Given the description of an element on the screen output the (x, y) to click on. 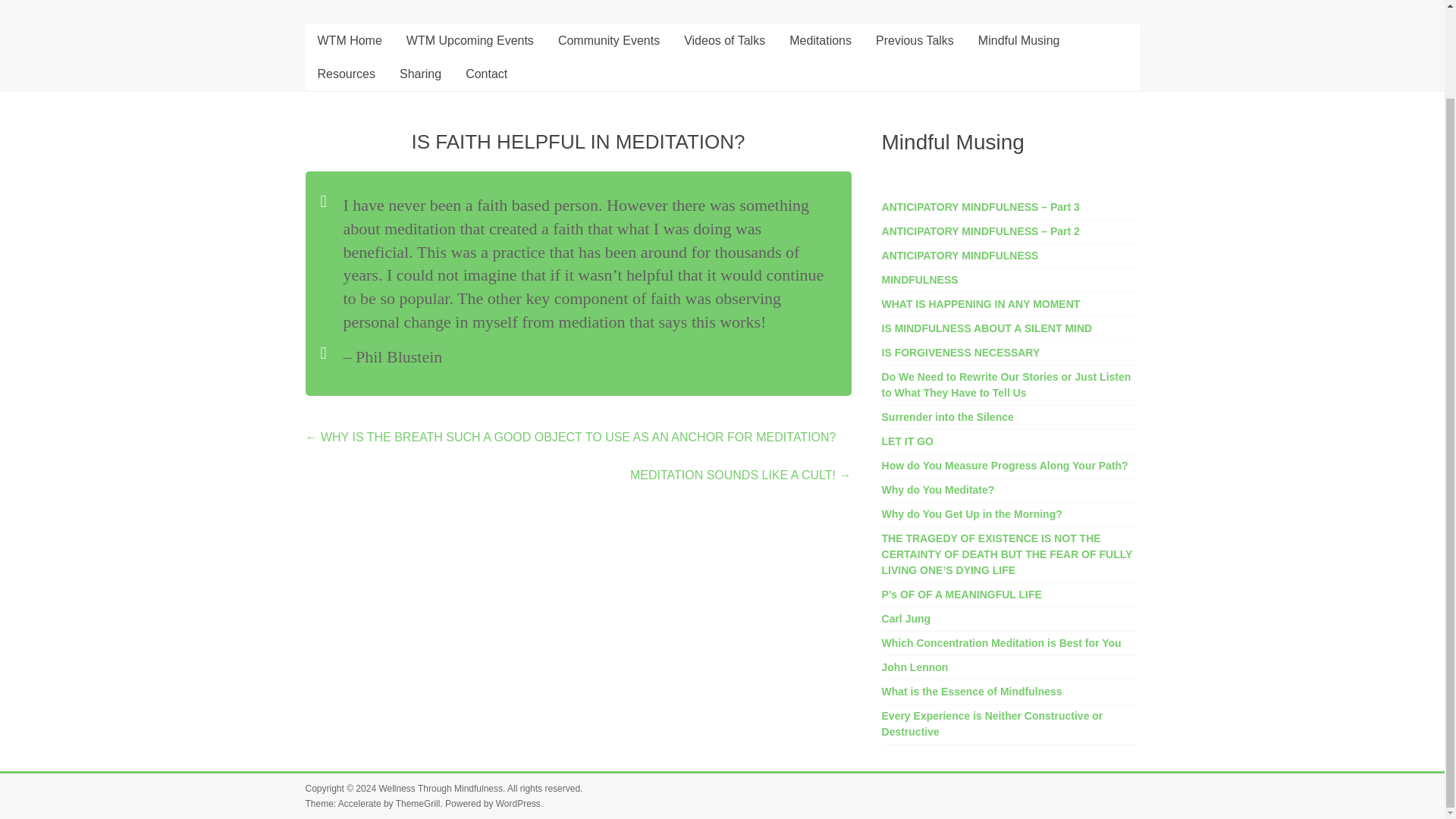
Accelerate (359, 803)
WTM Home (348, 40)
Surrender into the Silence (947, 417)
Sharing (419, 73)
Which Concentration Meditation is Best for You (1001, 643)
Mindful Musing (1018, 40)
Why do You Meditate? (938, 490)
Contact (485, 73)
Resources (345, 73)
Every Experience is Neither Constructive or Destructive (992, 723)
How do You Measure Progress Along Your Path? (1005, 465)
Carl Jung (906, 618)
WordPress (518, 803)
Meditations (820, 40)
ANTICIPATORY MINDFULNESS (960, 255)
